Given the description of an element on the screen output the (x, y) to click on. 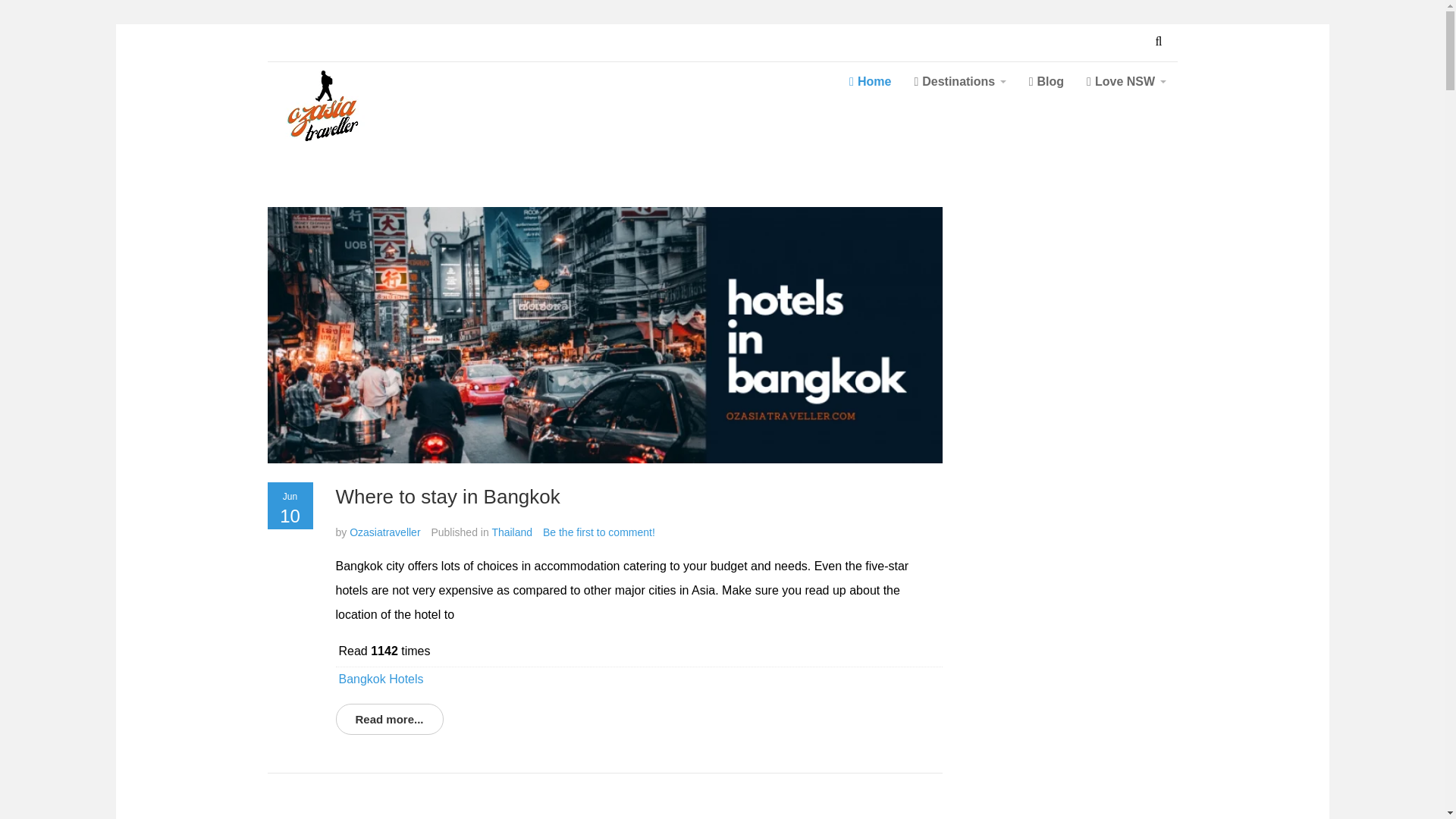
Where to stay in Bangkok (604, 333)
ozasiatraveller (368, 115)
